Given the description of an element on the screen output the (x, y) to click on. 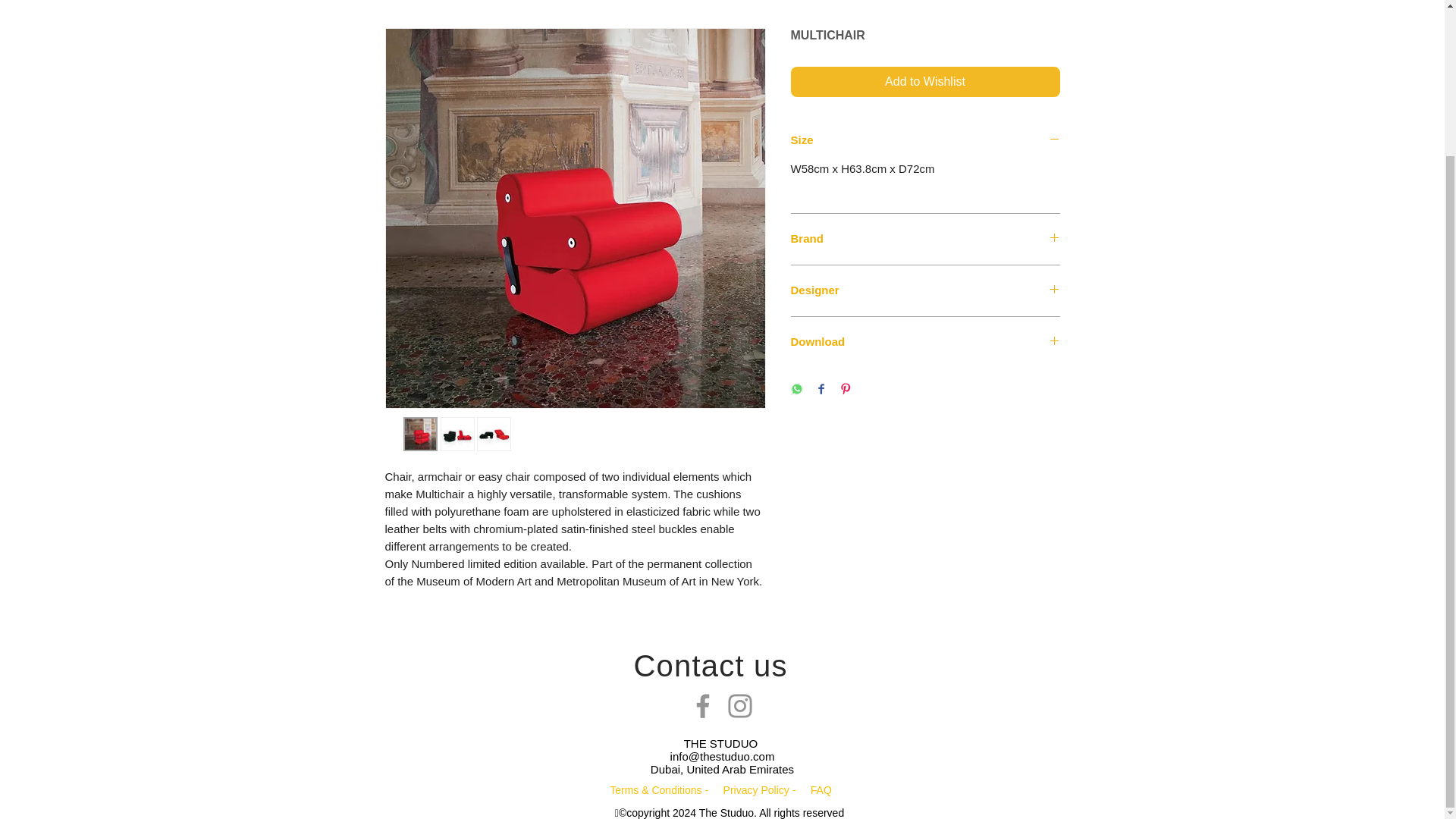
Add to Wishlist (924, 81)
Size (924, 140)
Designer (924, 290)
Download (924, 341)
Brand (924, 238)
Privacy Policy (757, 789)
FAQ (820, 789)
